Given the description of an element on the screen output the (x, y) to click on. 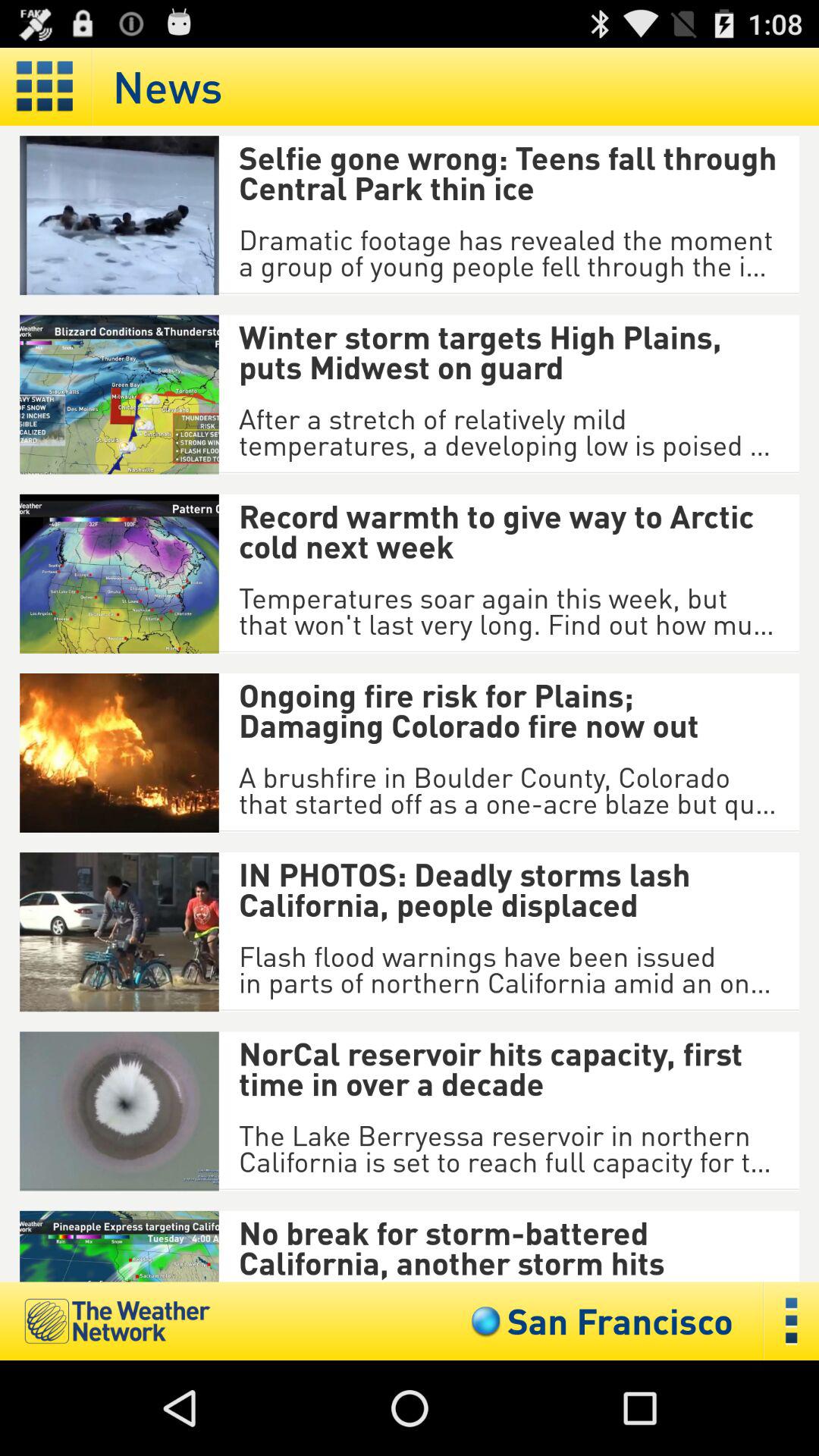
flip to san francisco icon (598, 1320)
